Given the description of an element on the screen output the (x, y) to click on. 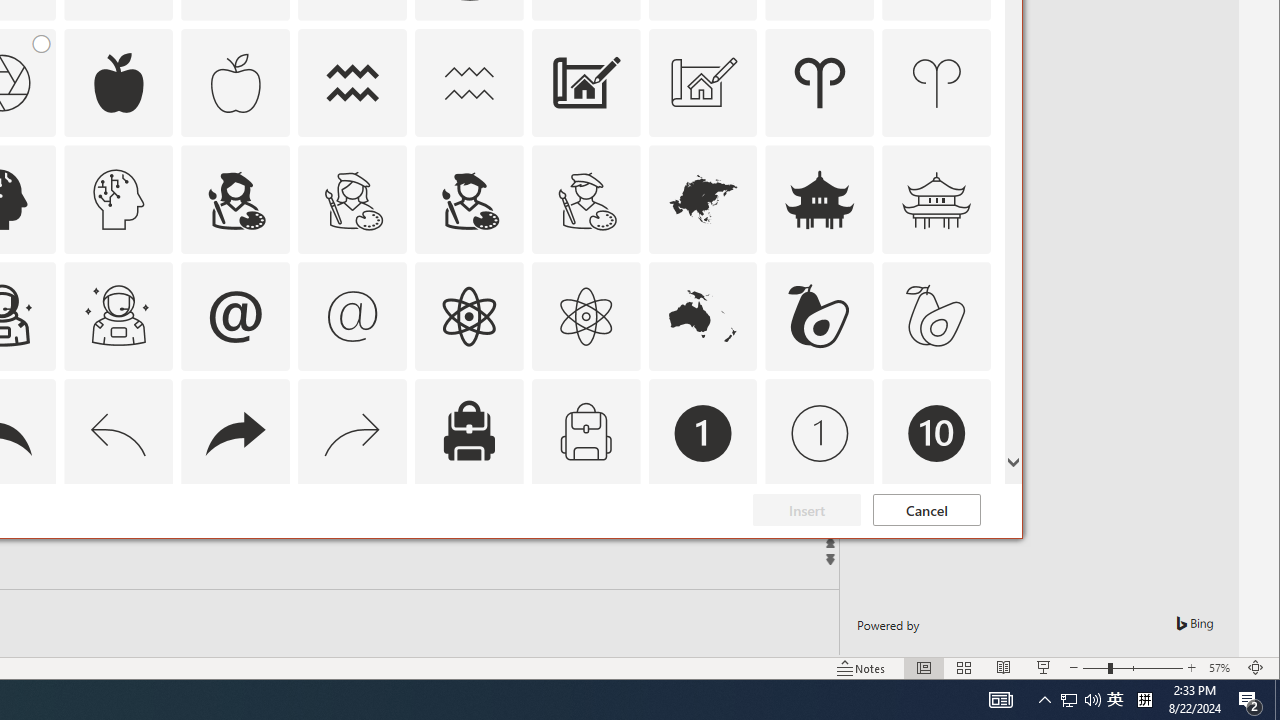
AutomationID: Icons_Australia (702, 316)
AutomationID: Icons_Architecture (586, 82)
AutomationID: Icons_Badge1 (702, 434)
AutomationID: Icons_Badge9 (819, 550)
AutomationID: Icons_ArtistMale_M (586, 200)
Zoom 57% (1222, 668)
AutomationID: Icons_Backpack_M (586, 434)
AutomationID: Icons_Badge7_M (468, 550)
AutomationID: Icons_Architecture_M (702, 82)
AutomationID: Icons_Badge7 (353, 550)
